Given the description of an element on the screen output the (x, y) to click on. 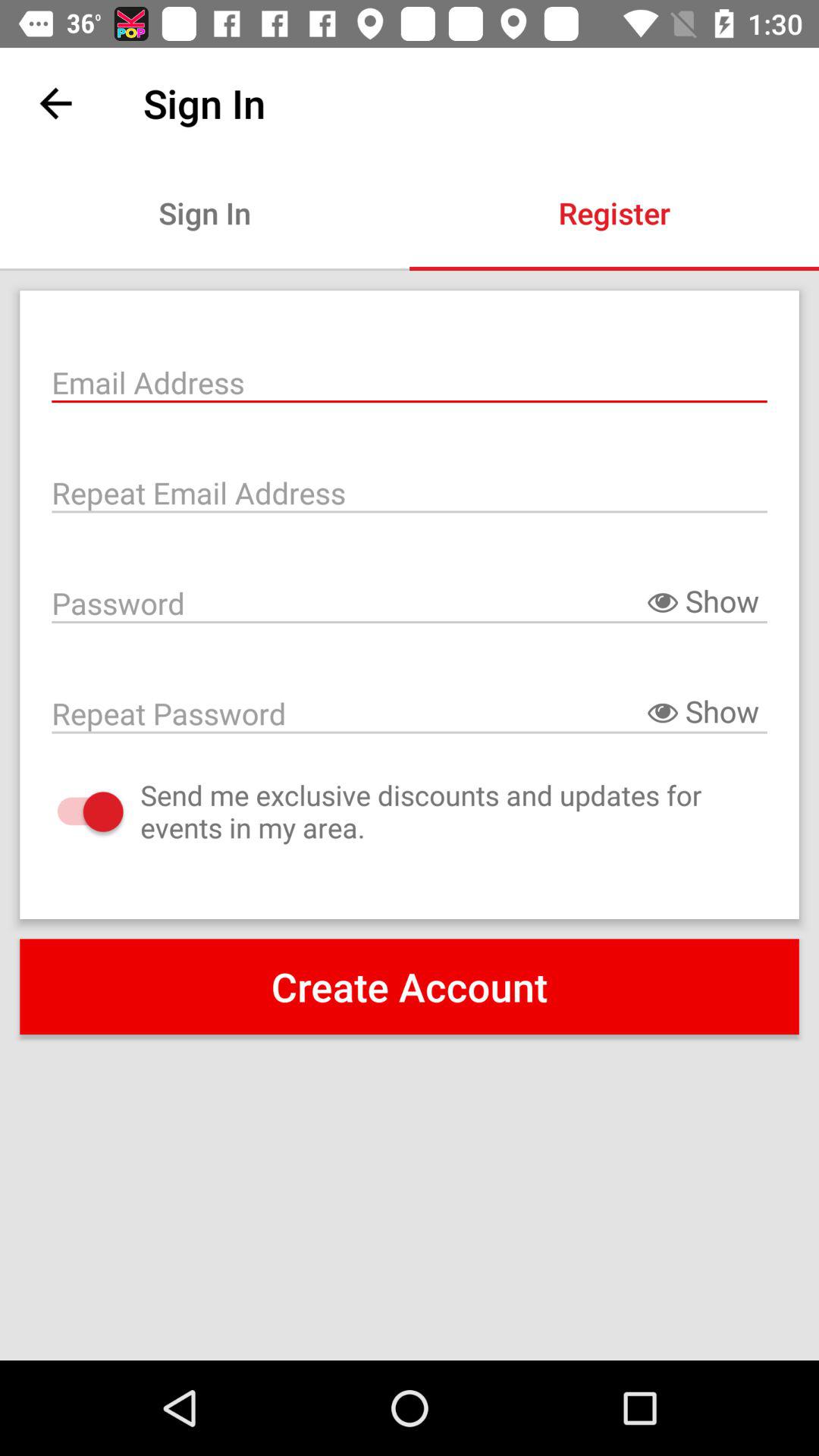
select the item above the create account (74, 811)
